Given the description of an element on the screen output the (x, y) to click on. 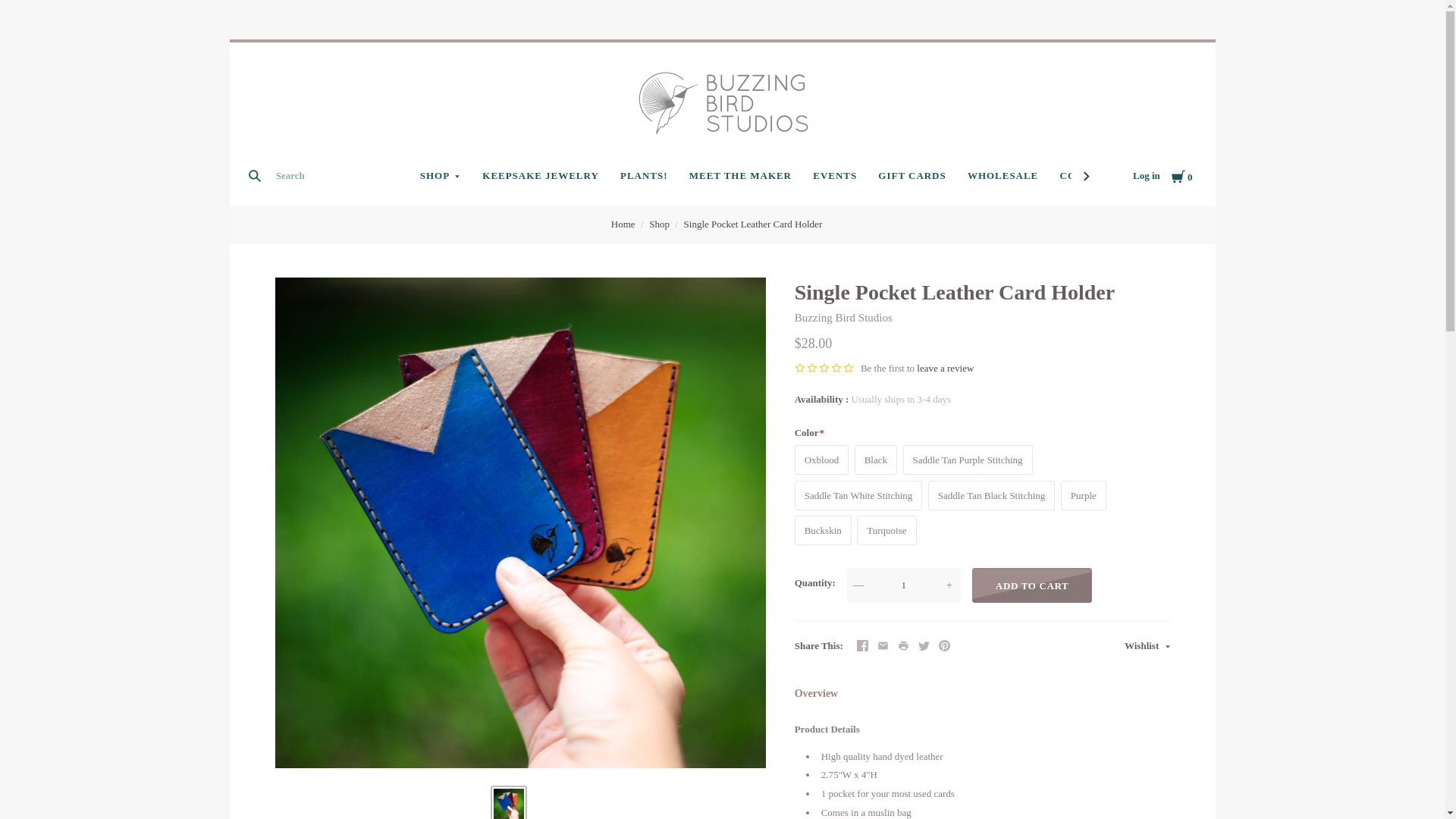
KEEPSAKE JEWELRY (539, 175)
Single pocket card holder (508, 803)
GIFT CARDS (911, 175)
SHOP (440, 175)
WHOLESALE (1002, 175)
1 (903, 585)
EVENTS (834, 175)
MEET THE MAKER (740, 175)
PLANTS! (643, 175)
